Given the description of an element on the screen output the (x, y) to click on. 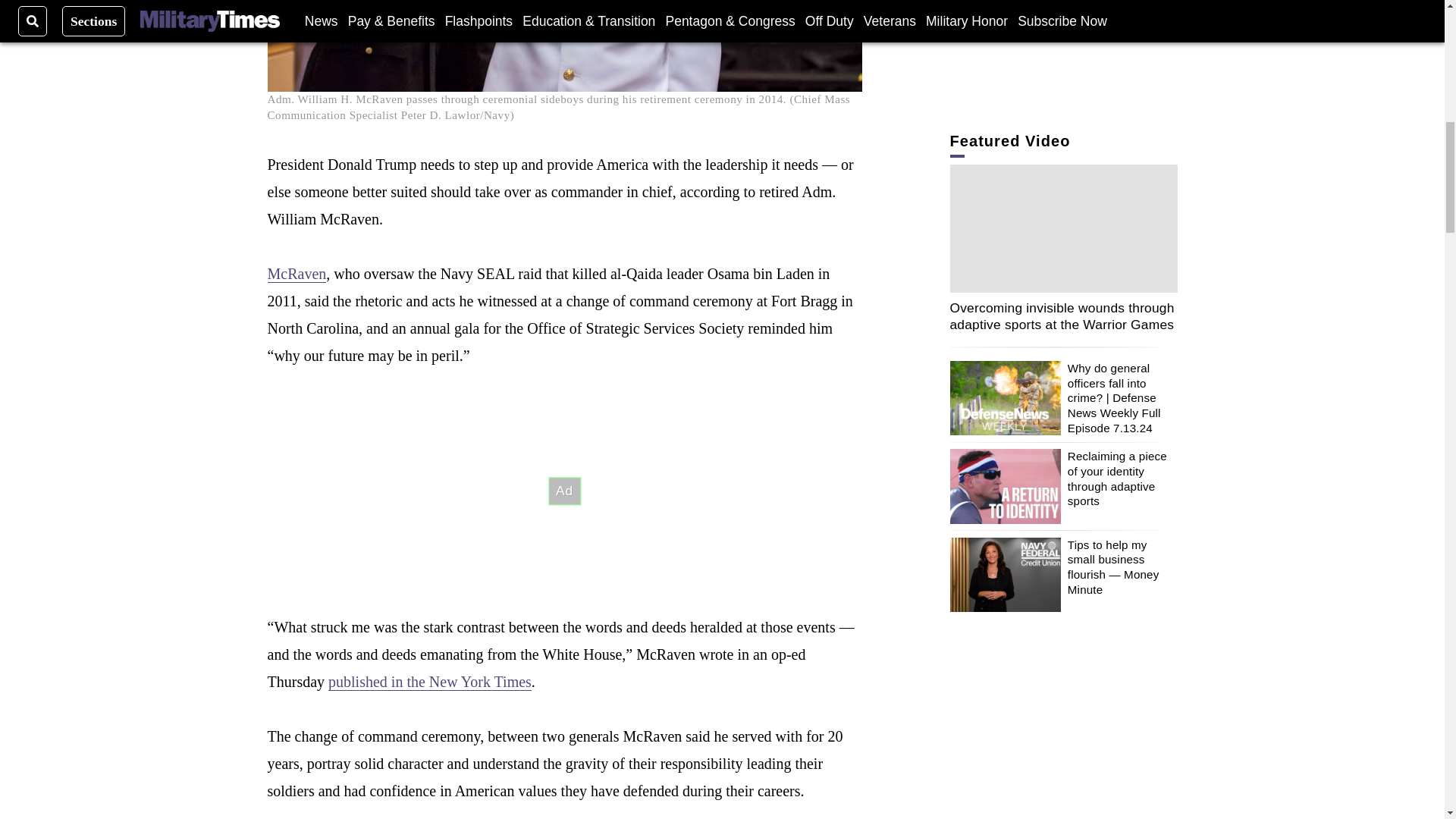
3rd party ad content (563, 491)
